Given the description of an element on the screen output the (x, y) to click on. 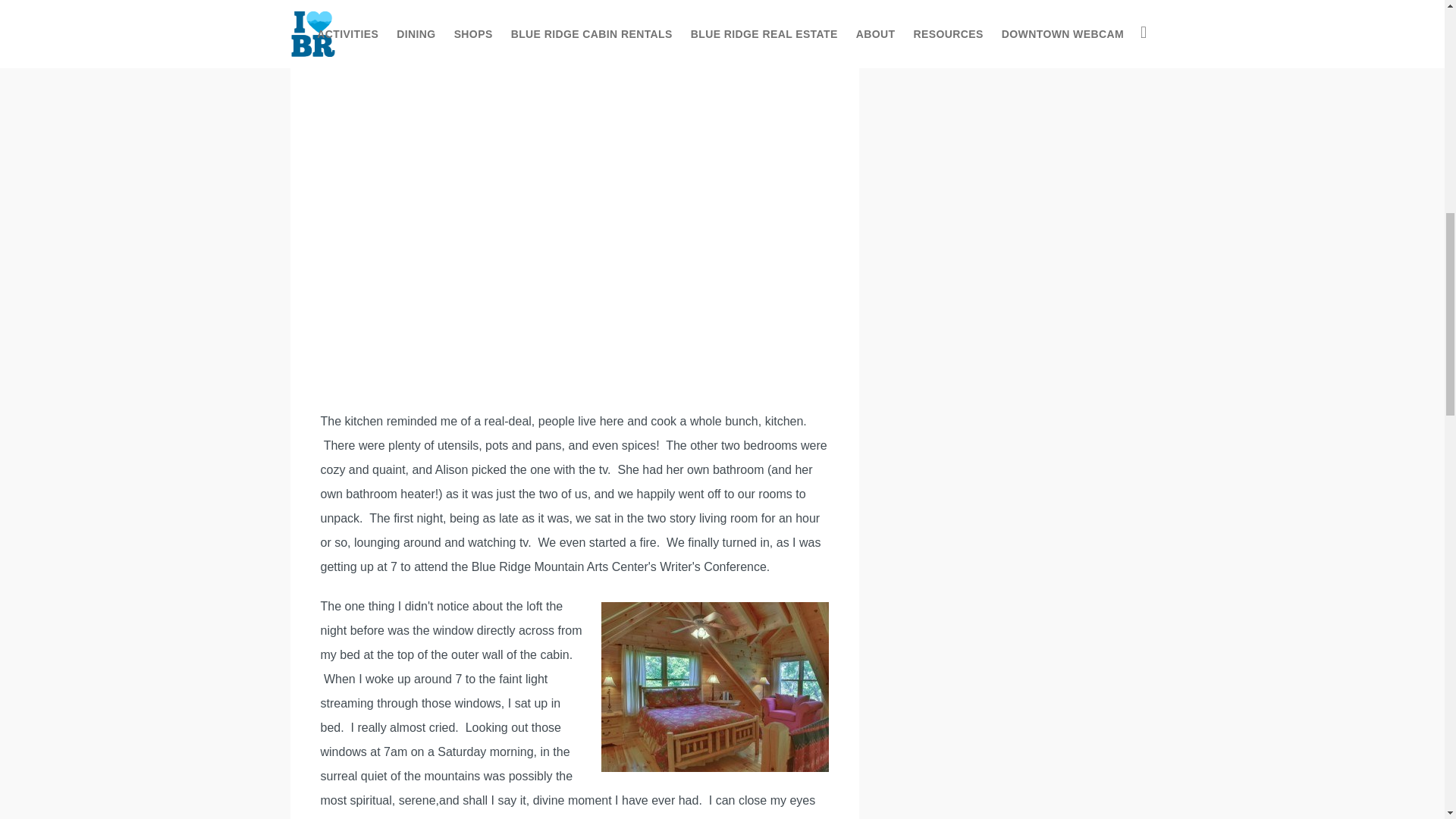
Divine Intervention Cabin Rental in Cherry Log, GA (713, 686)
